Given the description of an element on the screen output the (x, y) to click on. 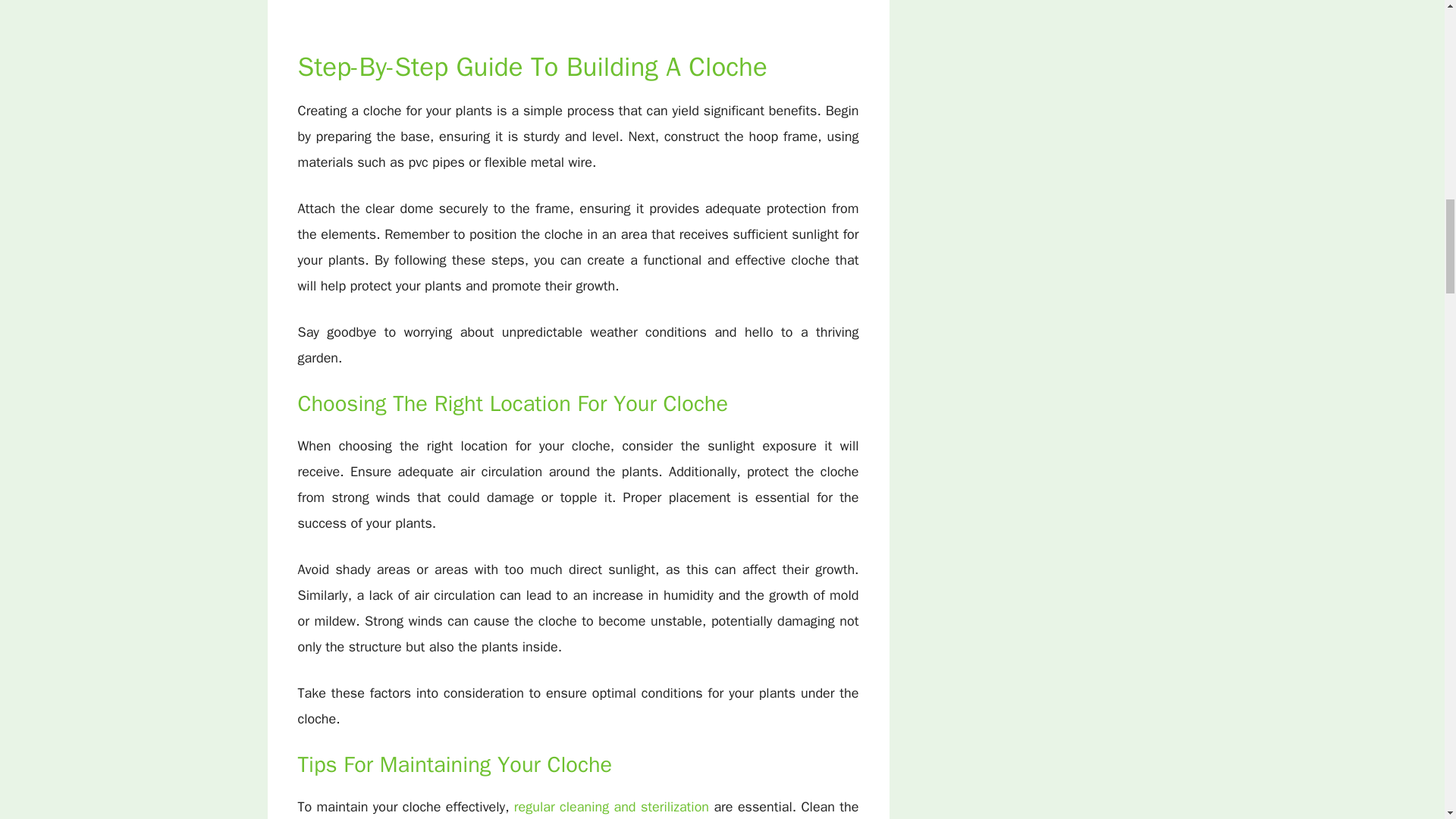
regular cleaning and sterilization (613, 806)
